Given the description of an element on the screen output the (x, y) to click on. 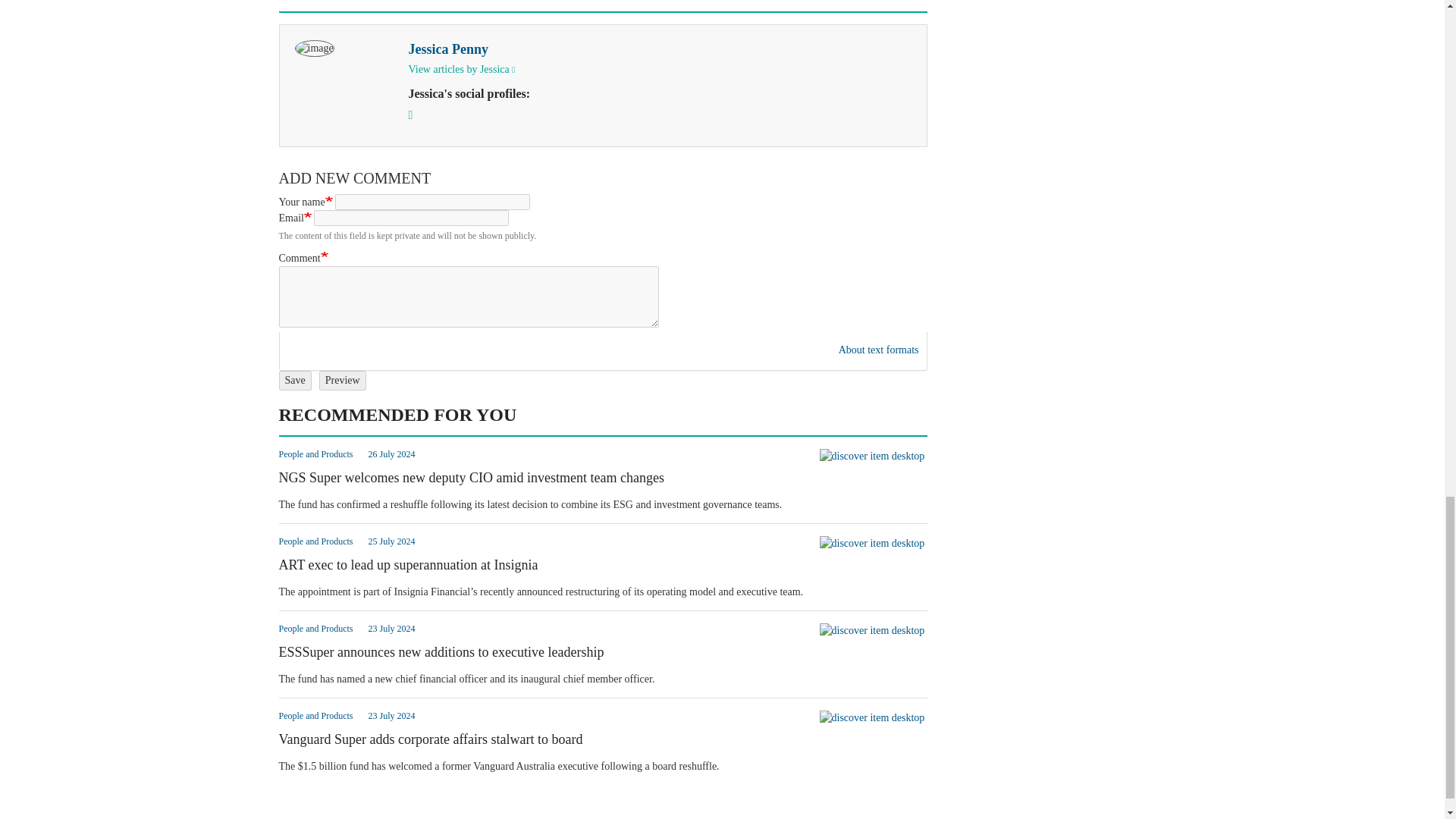
Opens in new window (876, 349)
